Given the description of an element on the screen output the (x, y) to click on. 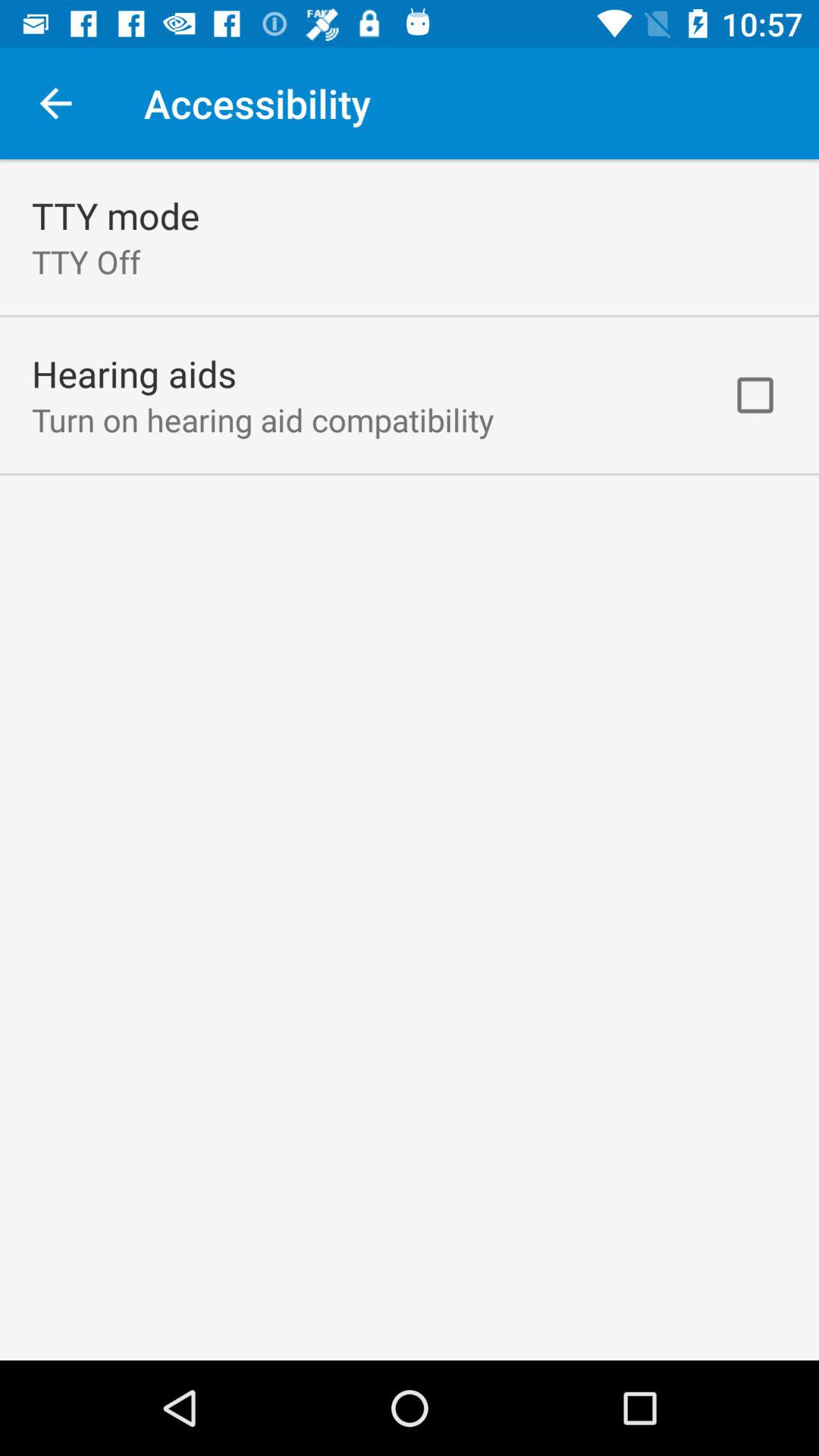
scroll until tty mode (115, 215)
